Given the description of an element on the screen output the (x, y) to click on. 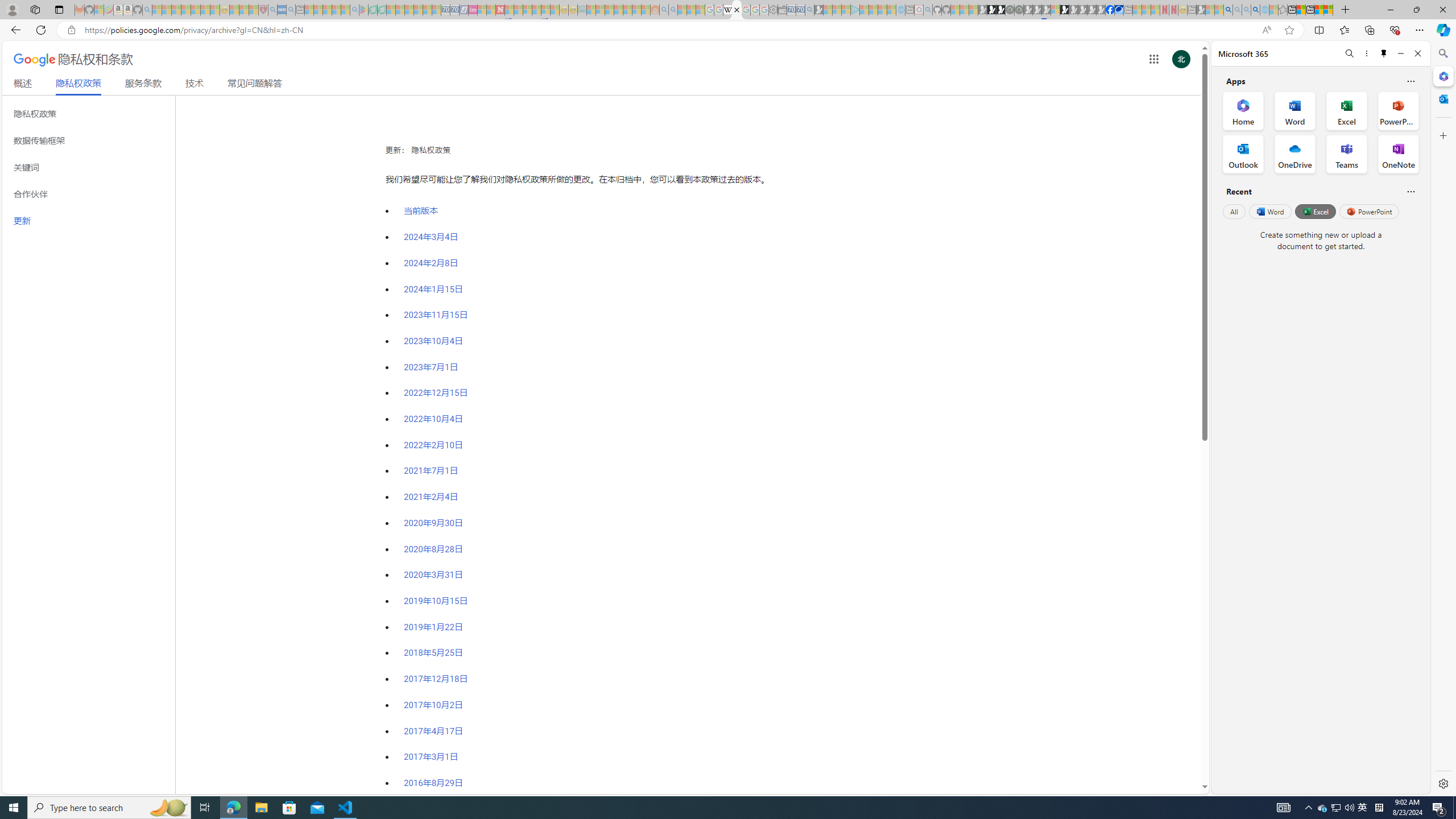
All (1233, 210)
Is this helpful? (1410, 191)
Word Office App (1295, 110)
Teams Office App (1346, 154)
